Given the description of an element on the screen output the (x, y) to click on. 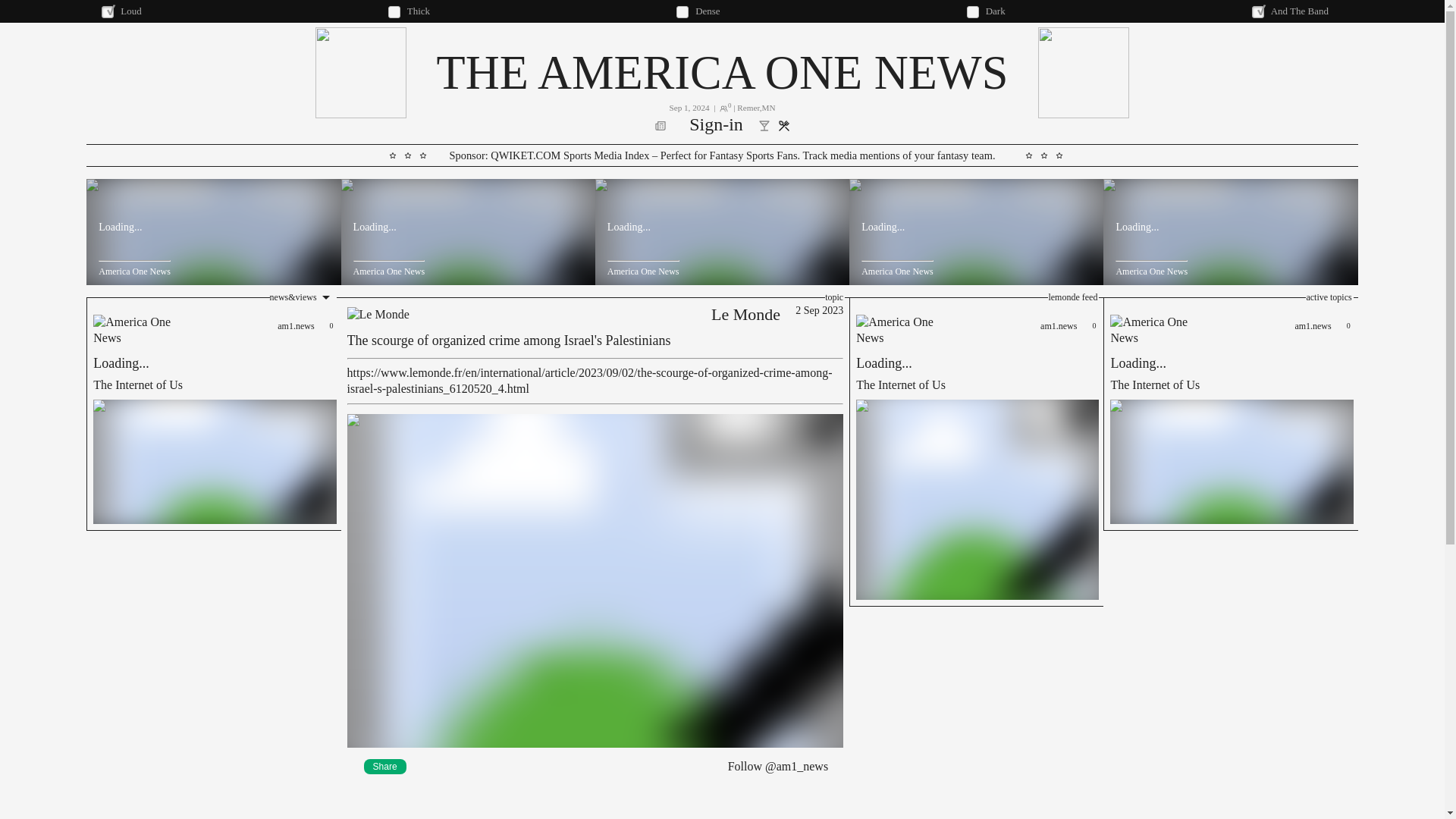
Le Monde (744, 314)
THE AMERICA ONE NEWS (720, 72)
The scourge of organized crime among Israel's Palestinians (509, 341)
Sign-in (1229, 413)
QWIKET.COM (715, 125)
Share (525, 154)
